Given the description of an element on the screen output the (x, y) to click on. 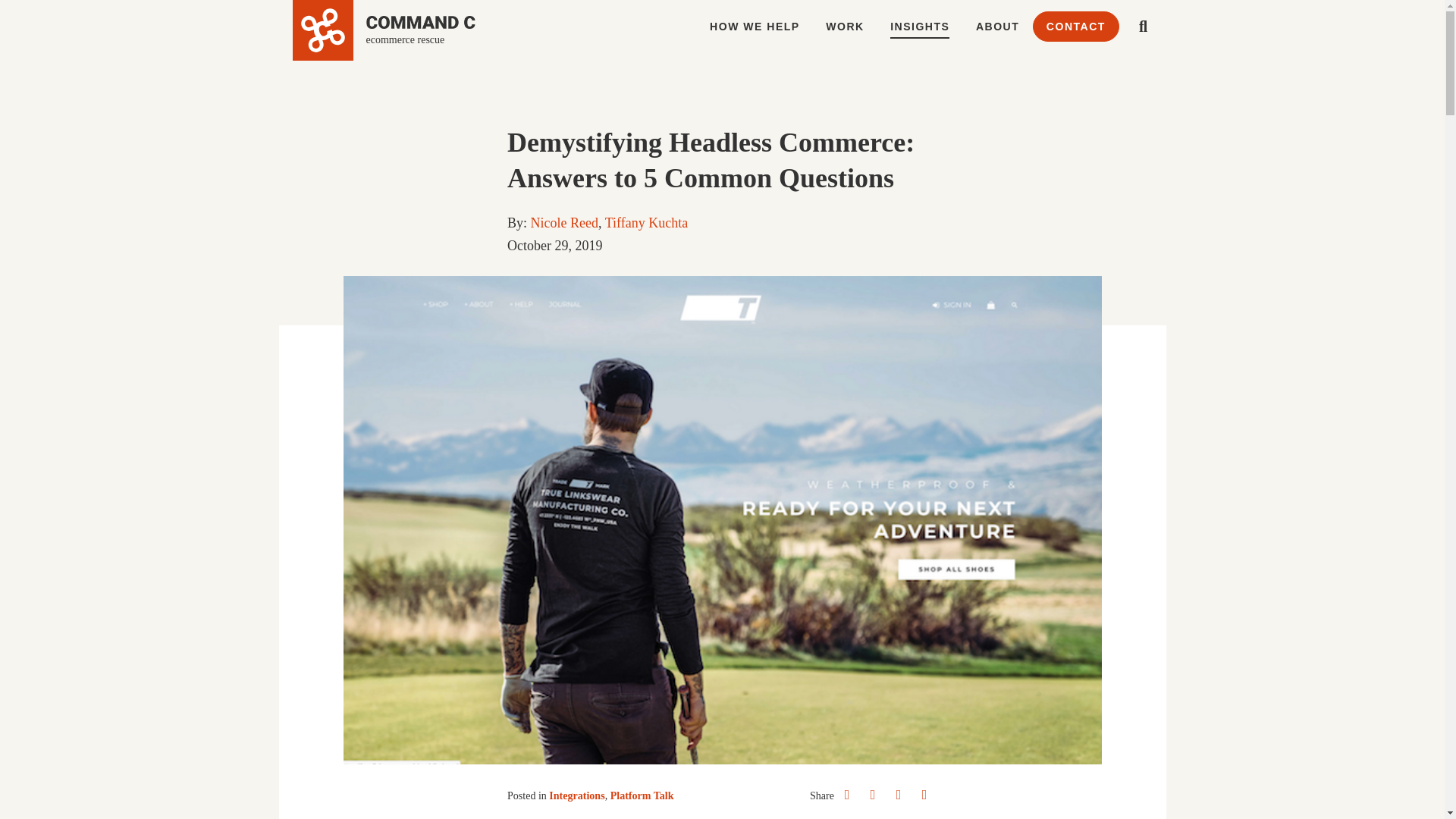
Command C - Home Link (384, 30)
HOW WE HELP (754, 26)
